Given the description of an element on the screen output the (x, y) to click on. 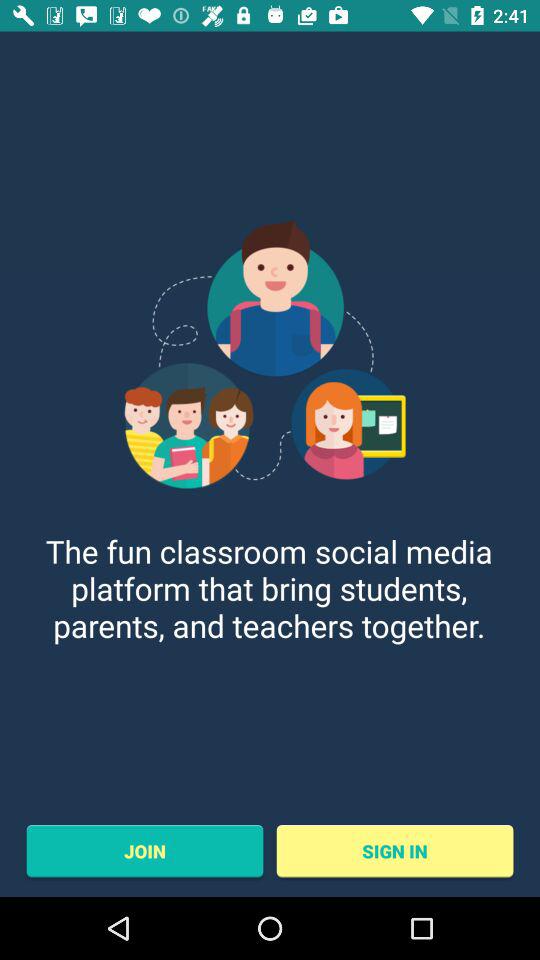
launch item to the left of sign in icon (144, 851)
